Given the description of an element on the screen output the (x, y) to click on. 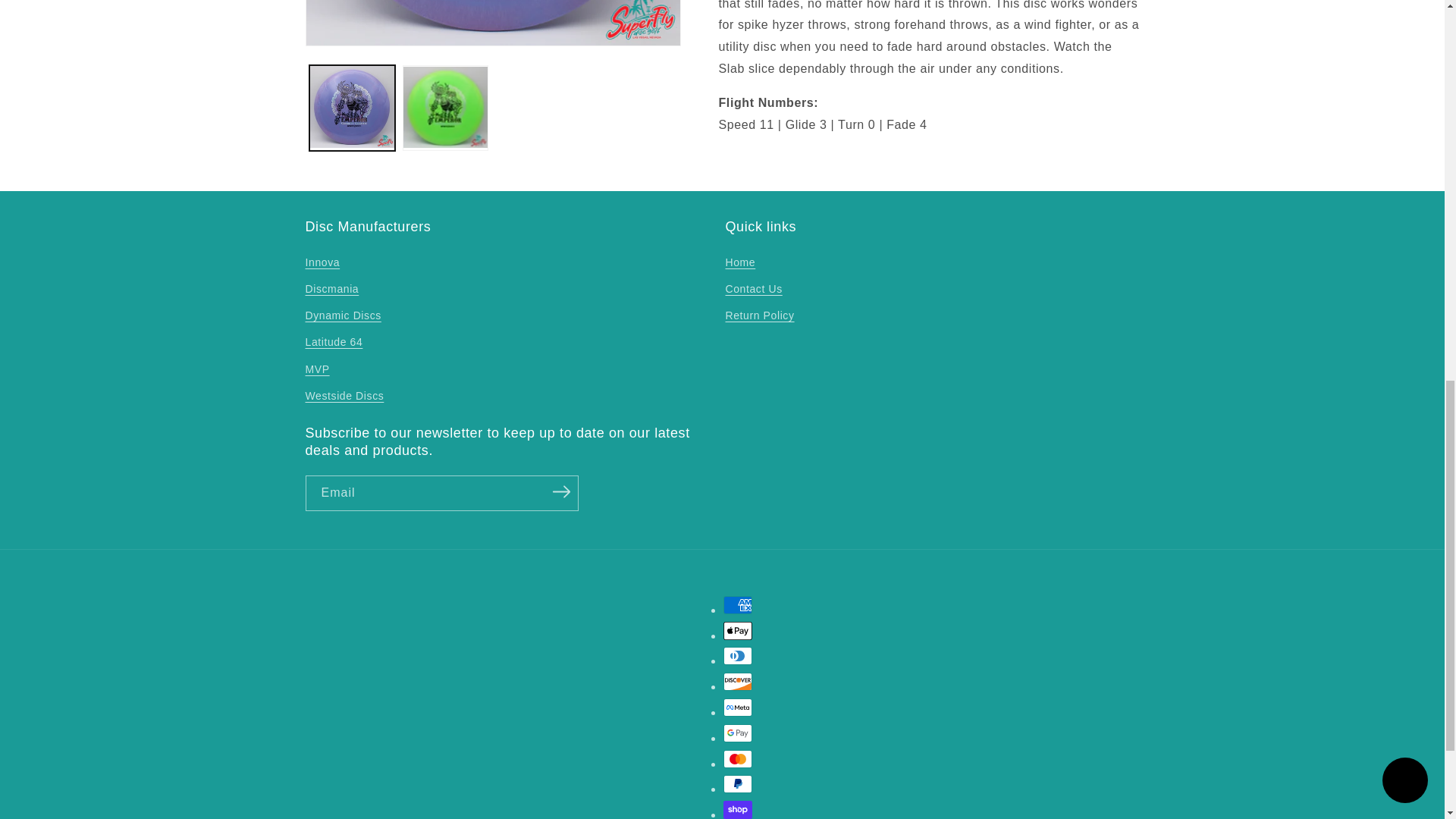
Shop Pay (737, 809)
Mastercard (737, 759)
American Express (737, 605)
Apple Pay (737, 630)
Meta Pay (737, 707)
Google Pay (737, 732)
PayPal (737, 783)
Discover (737, 681)
Diners Club (737, 656)
